Given the description of an element on the screen output the (x, y) to click on. 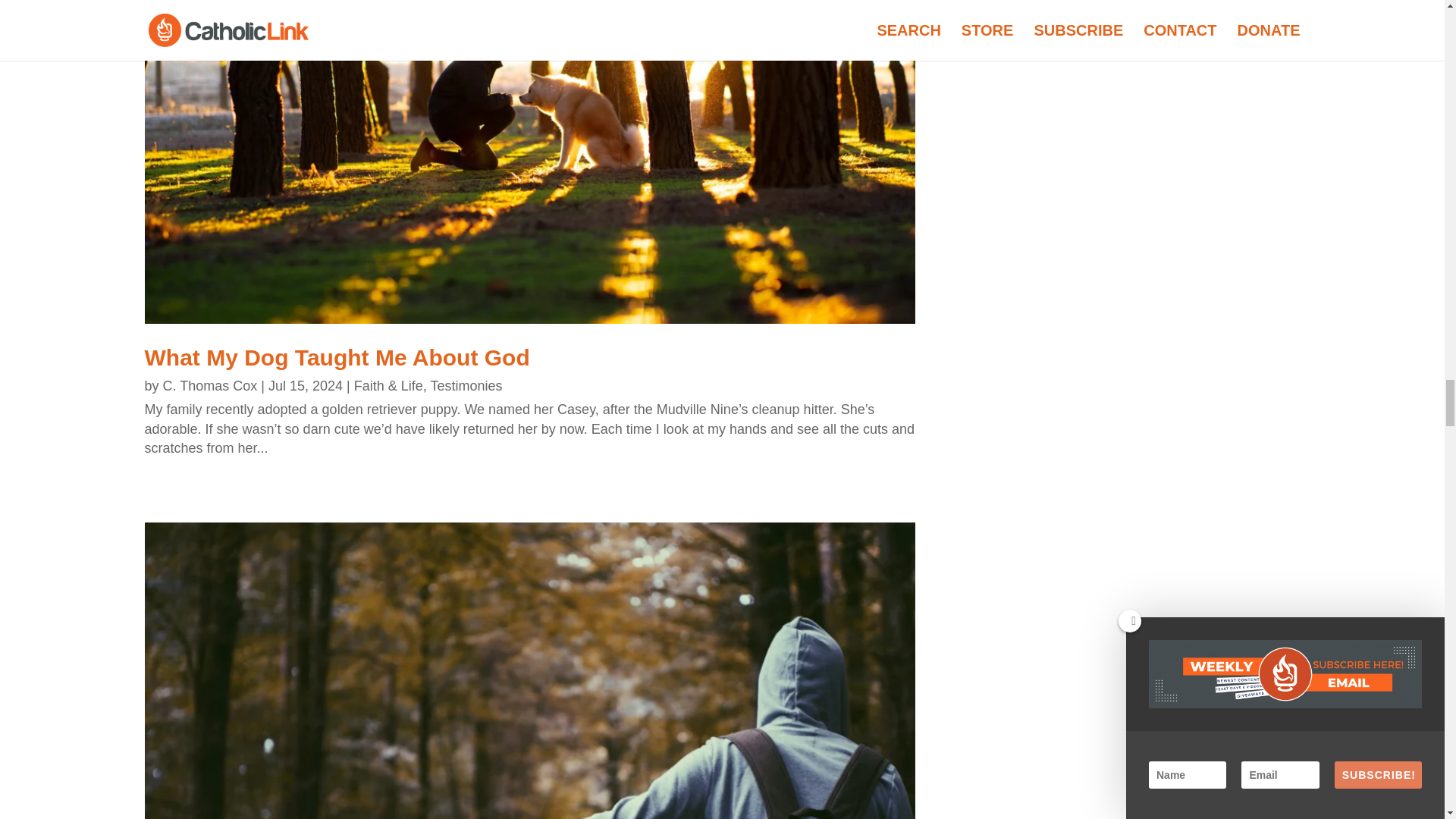
Posts by C. Thomas Cox (210, 385)
